Given the description of an element on the screen output the (x, y) to click on. 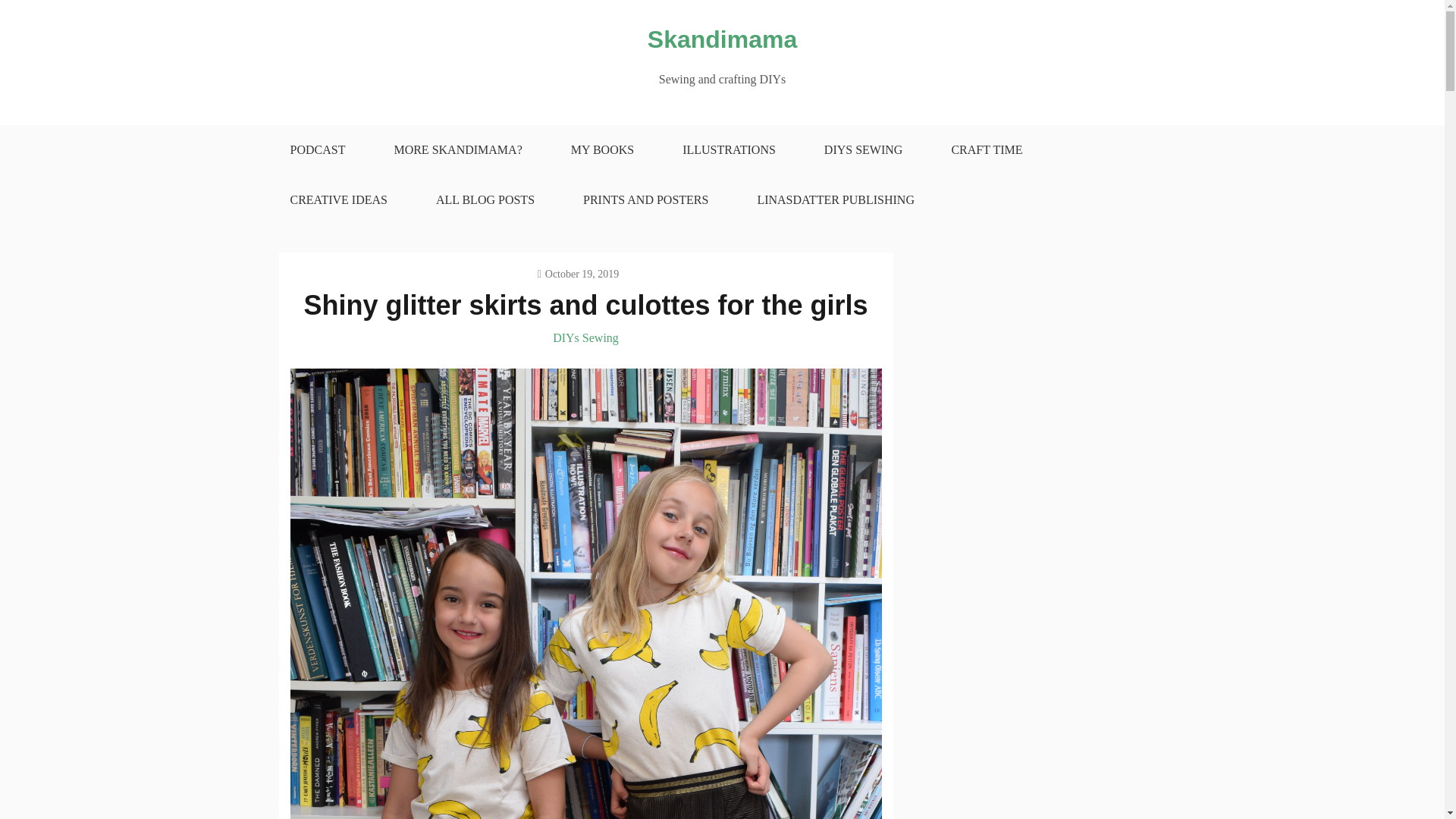
CREATIVE IDEAS (337, 200)
Skandimama (721, 39)
ALL BLOG POSTS (485, 200)
PRINTS AND POSTERS (645, 200)
DIYS SEWING (864, 150)
DIYs Sewing (585, 337)
LINASDATTER PUBLISHING (835, 200)
PODCAST (317, 150)
MORE SKANDIMAMA? (457, 150)
CRAFT TIME (986, 150)
